Given the description of an element on the screen output the (x, y) to click on. 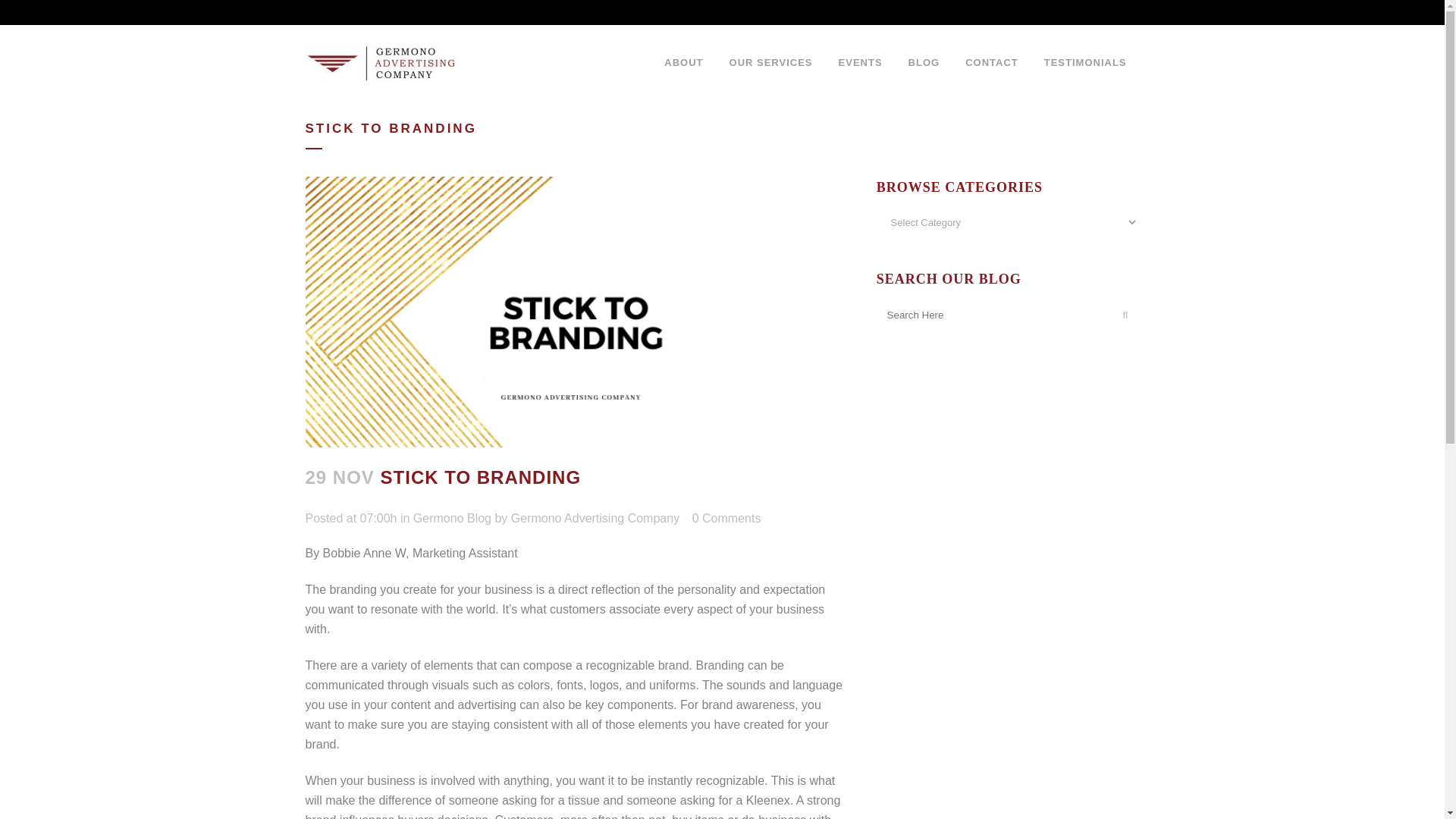
Germono Blog (452, 517)
Germono Advertising Company (595, 517)
OUR SERVICES (770, 62)
0 Comments (727, 517)
TESTIMONIALS (1085, 62)
EVENTS (860, 62)
CONTACT (991, 62)
